Given the description of an element on the screen output the (x, y) to click on. 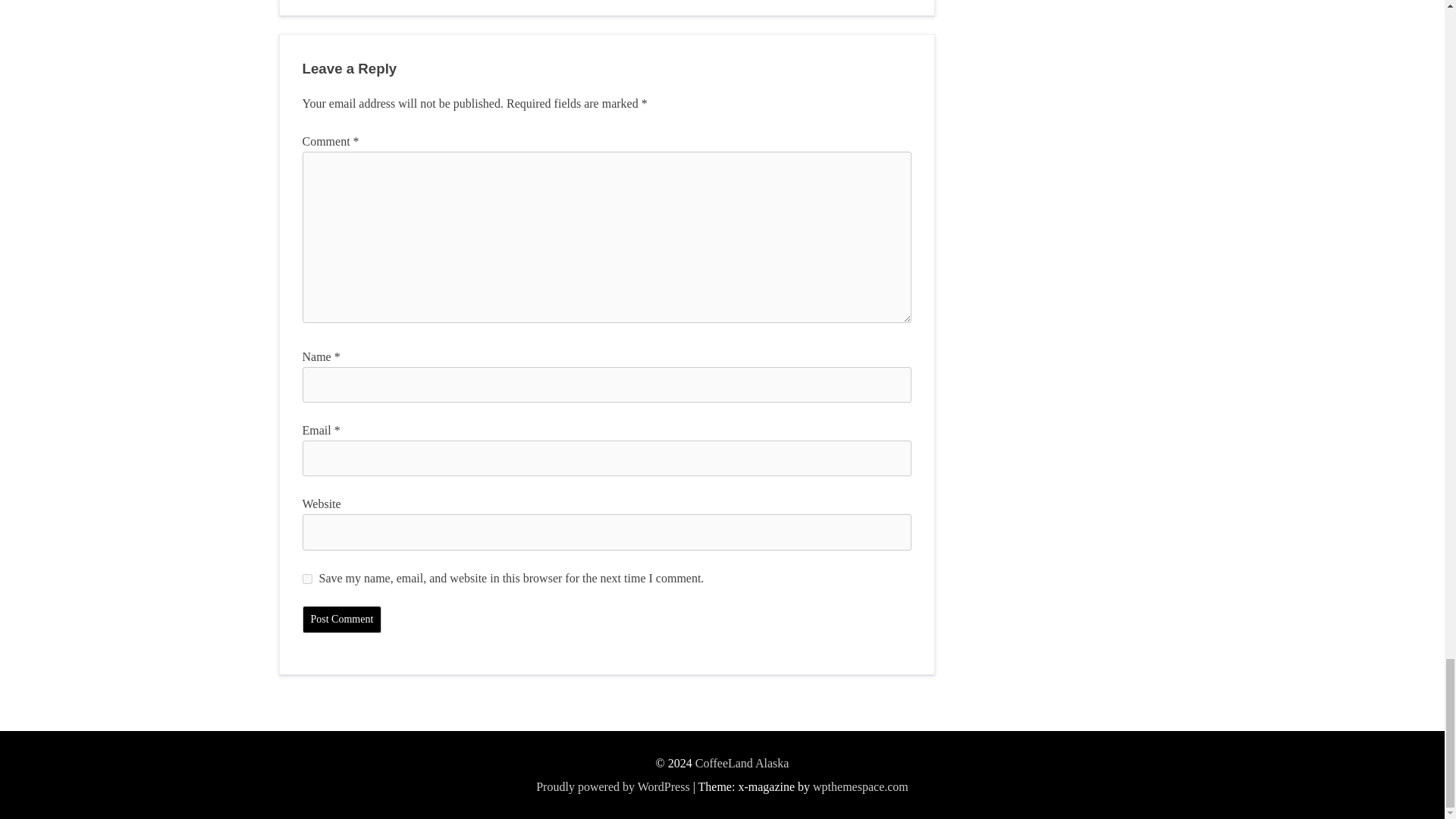
Post Comment (341, 619)
Post Comment (341, 619)
yes (306, 578)
